Given the description of an element on the screen output the (x, y) to click on. 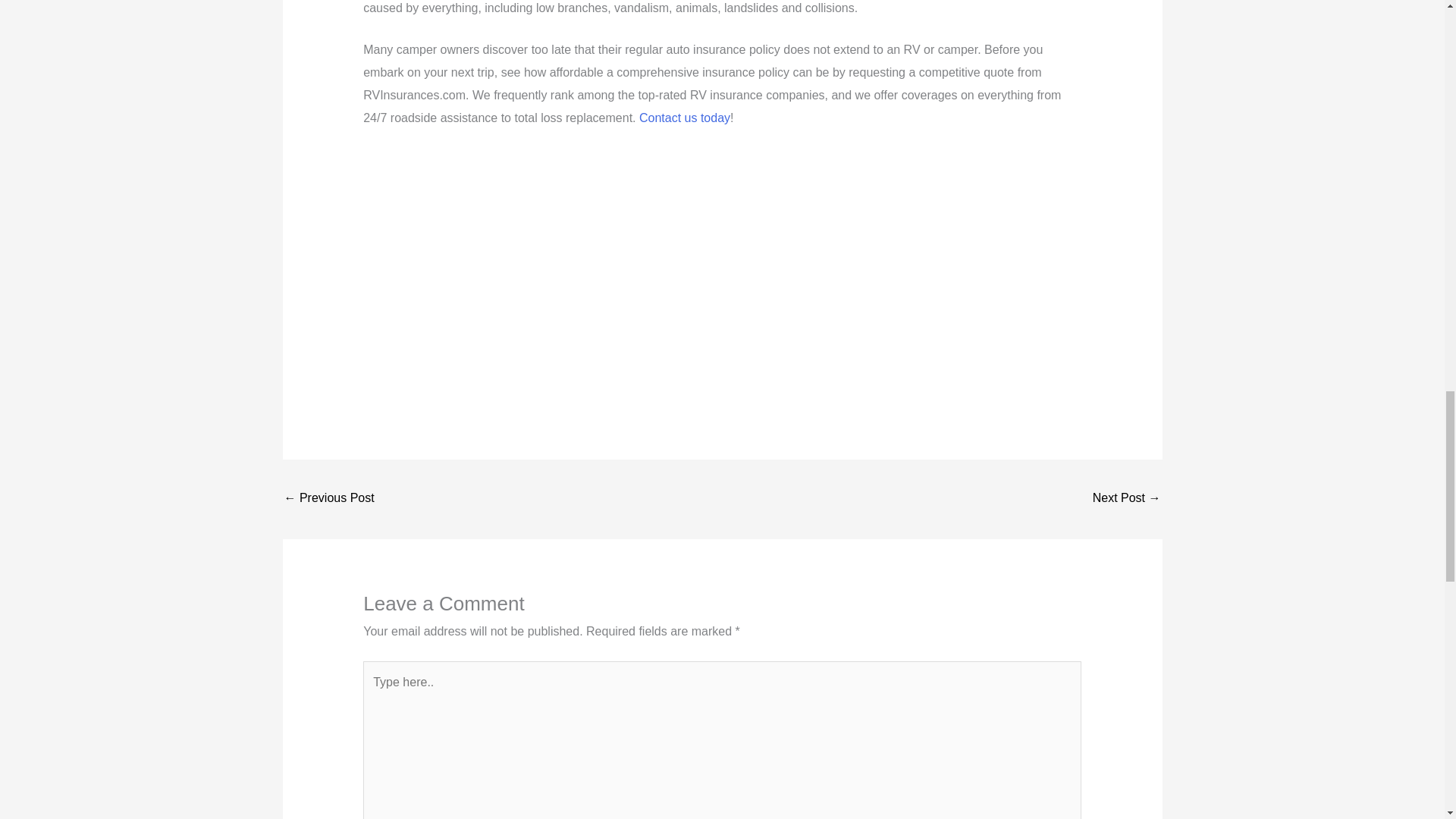
Get Your Boat Summer Ready (1126, 499)
The Ultimate Roadside Emergency Kit Checklist For Your RV (328, 499)
Contact us today (684, 117)
